Given the description of an element on the screen output the (x, y) to click on. 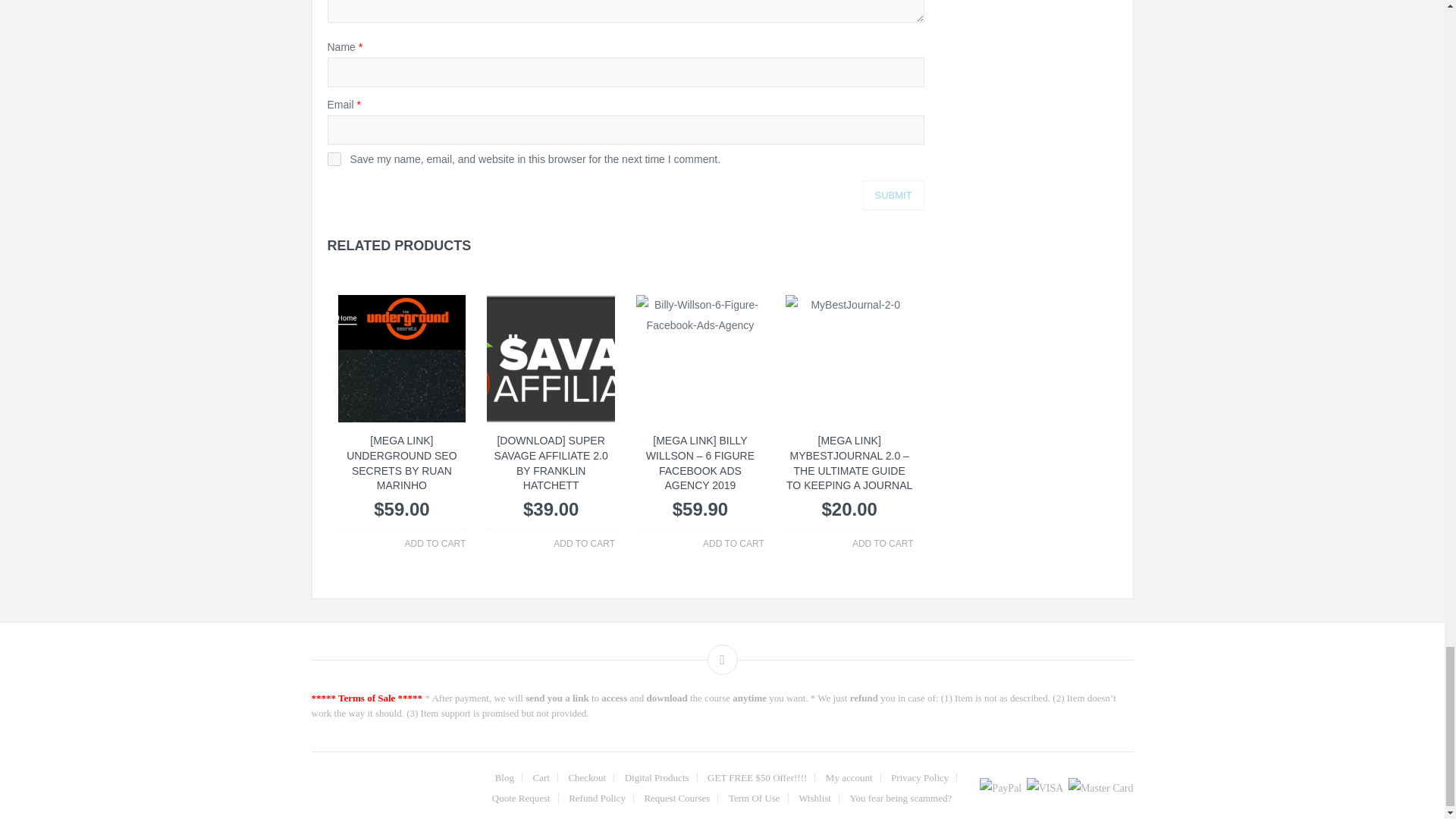
PayPal (1000, 788)
VISA (1045, 788)
Master Card (1101, 788)
yes (333, 159)
Submit (892, 194)
